Given the description of an element on the screen output the (x, y) to click on. 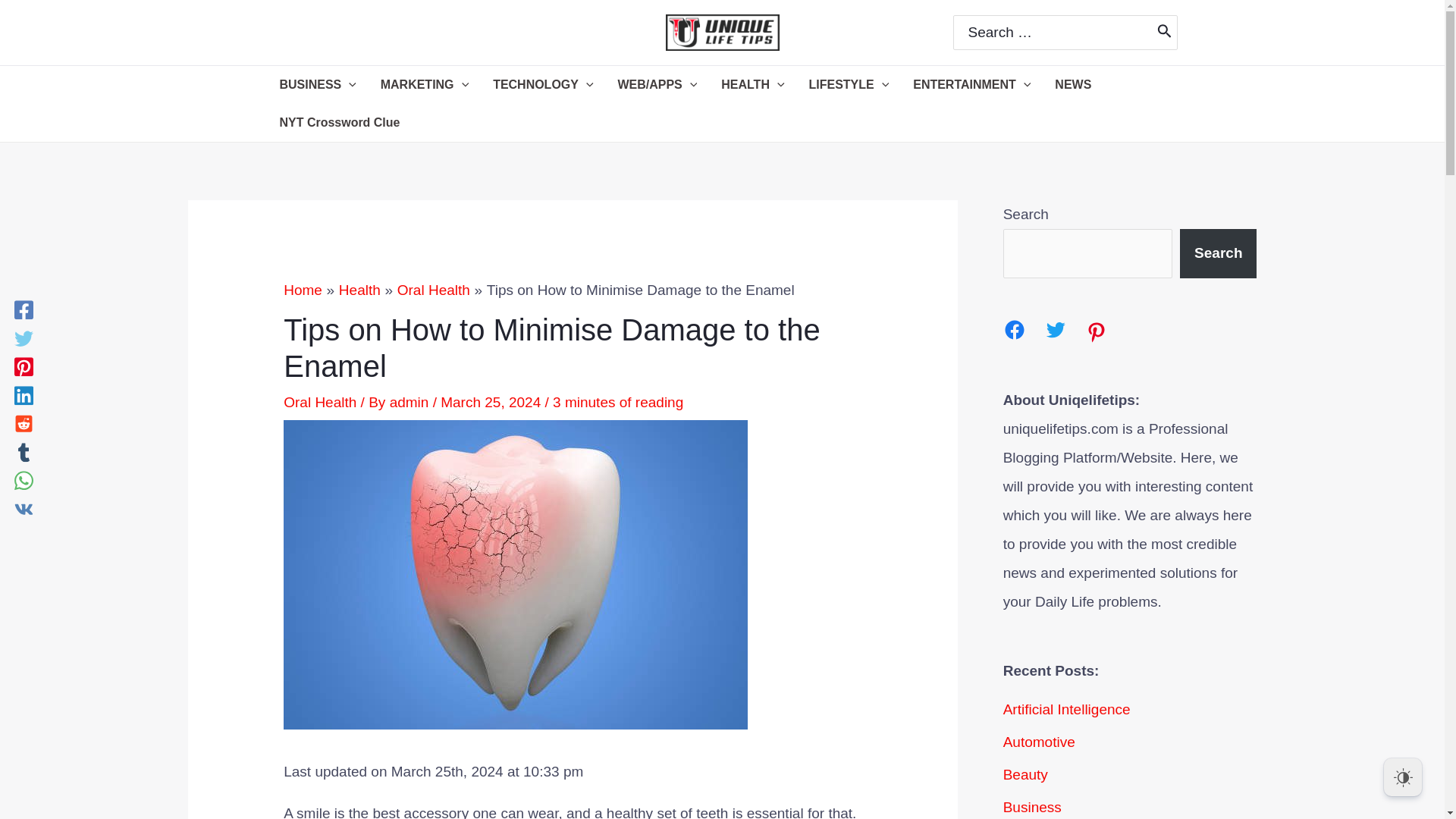
LIFESTYLE (848, 85)
BUSINESS (317, 85)
HEALTH (752, 85)
View all posts by admin (411, 401)
ENTERTAINMENT (971, 85)
MARKETING (424, 85)
TECHNOLOGY (542, 85)
